Given the description of an element on the screen output the (x, y) to click on. 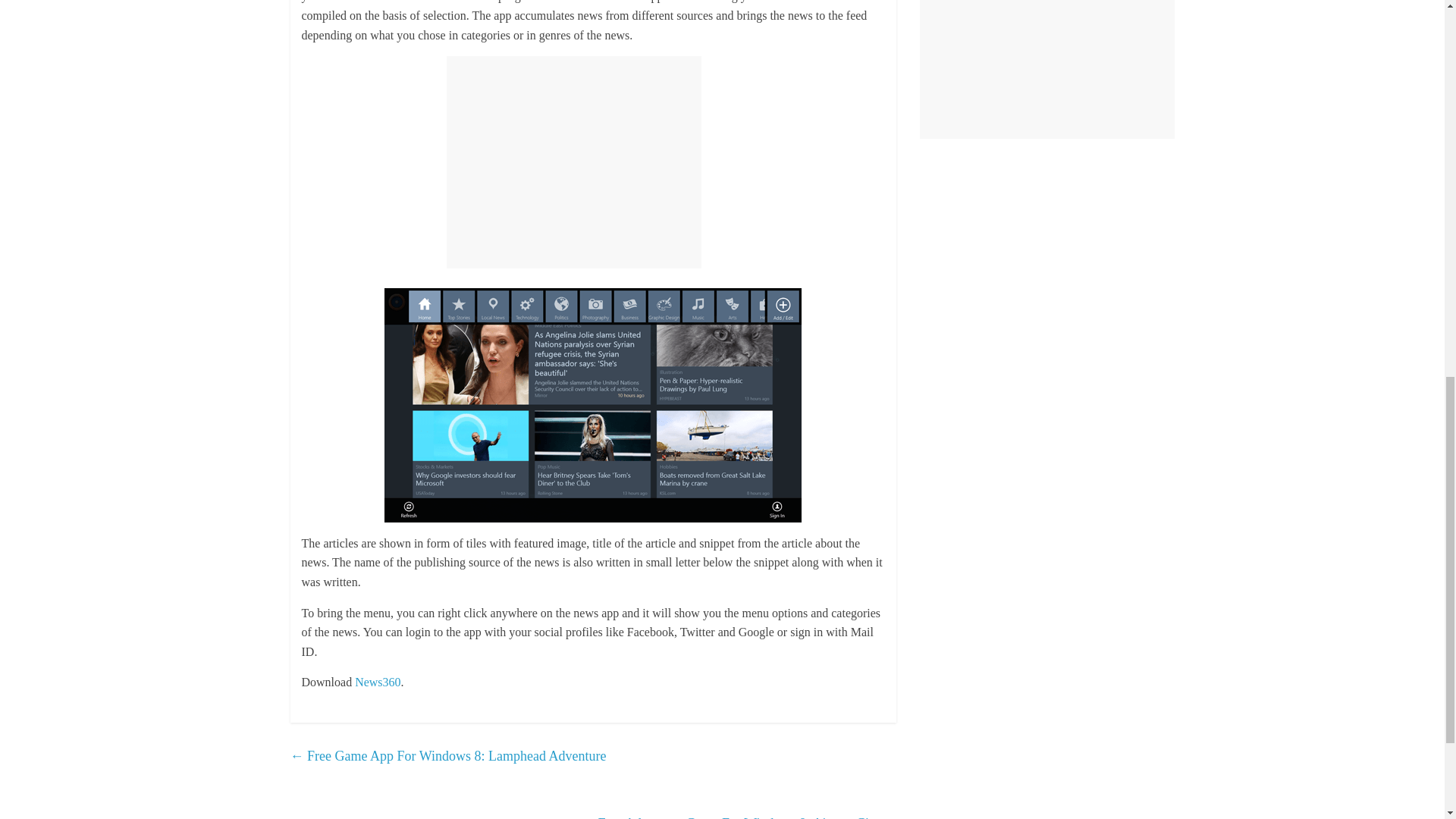
News360 (377, 681)
News360 (377, 681)
news feed (851, 1)
Free Windows 8 News App: Windows Central (851, 1)
